Given the description of an element on the screen output the (x, y) to click on. 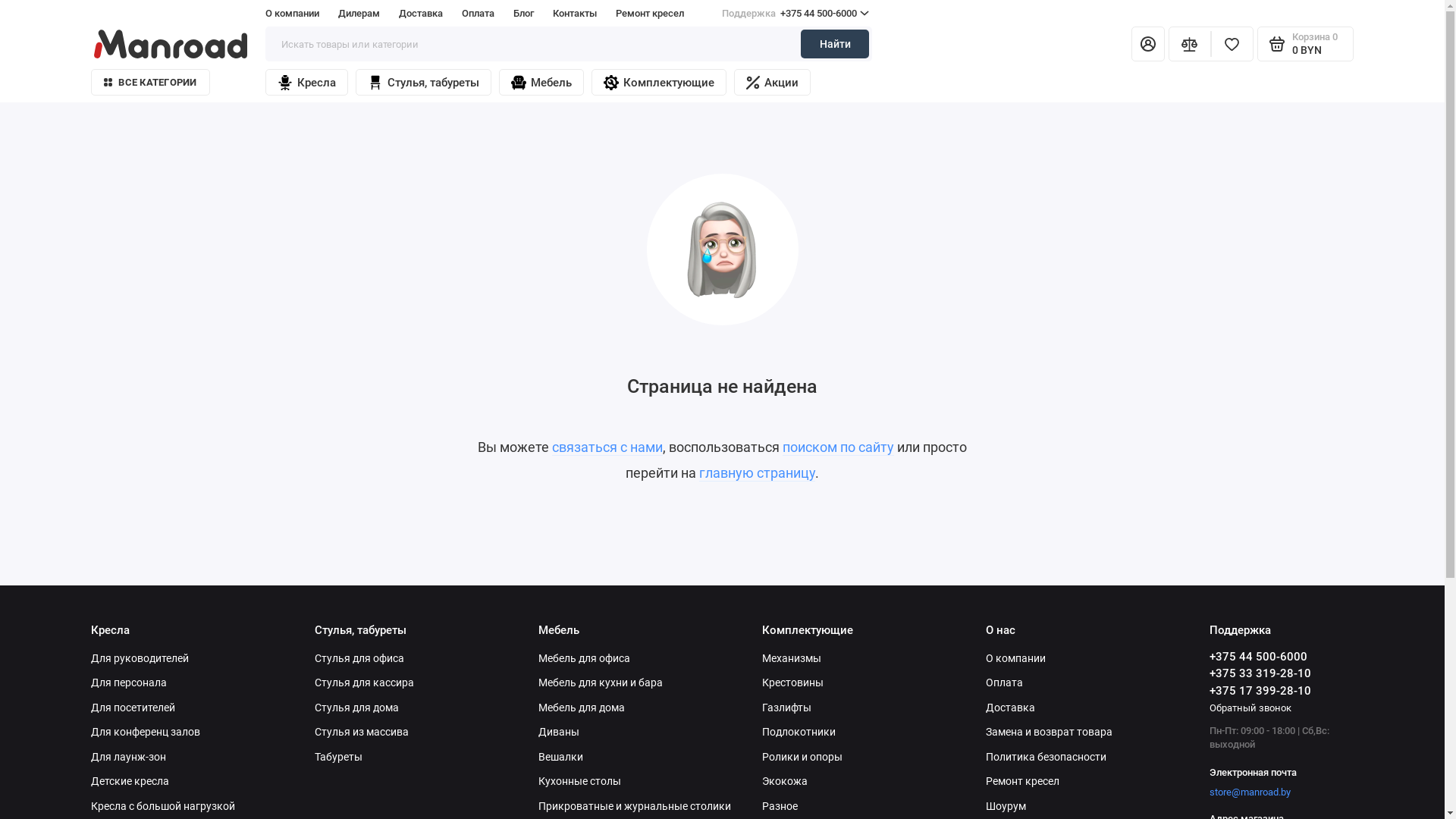
+375 44 500-6000 Element type: text (1258, 656)
+375 17 399-28-10 Element type: text (1260, 690)
store@manroad.by Element type: text (1249, 791)
+375 33 319-28-10 Element type: text (1260, 673)
Mrd.by Element type: hover (170, 43)
